Given the description of an element on the screen output the (x, y) to click on. 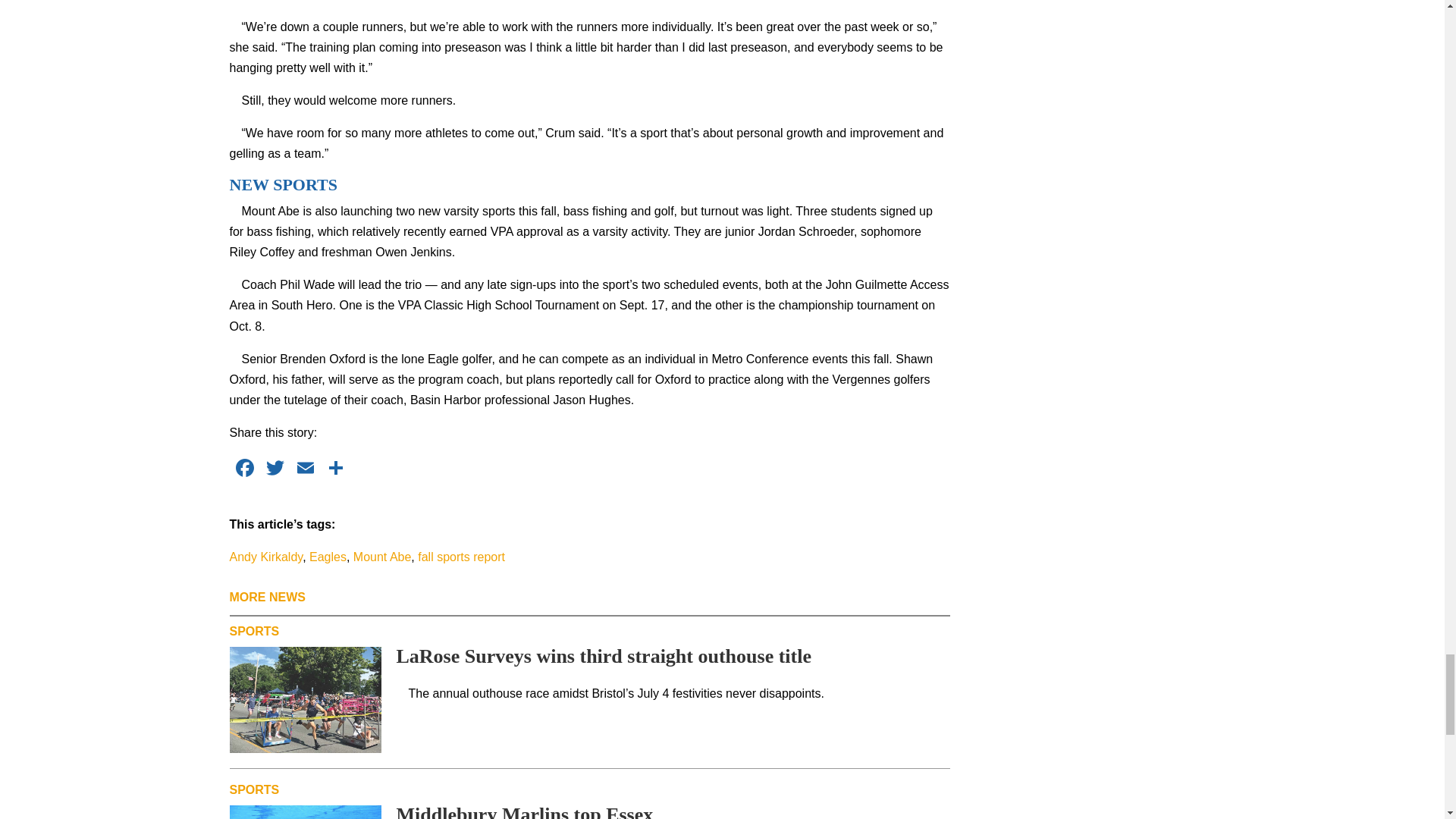
Facebook (243, 469)
Twitter (274, 469)
Email (304, 469)
